Given the description of an element on the screen output the (x, y) to click on. 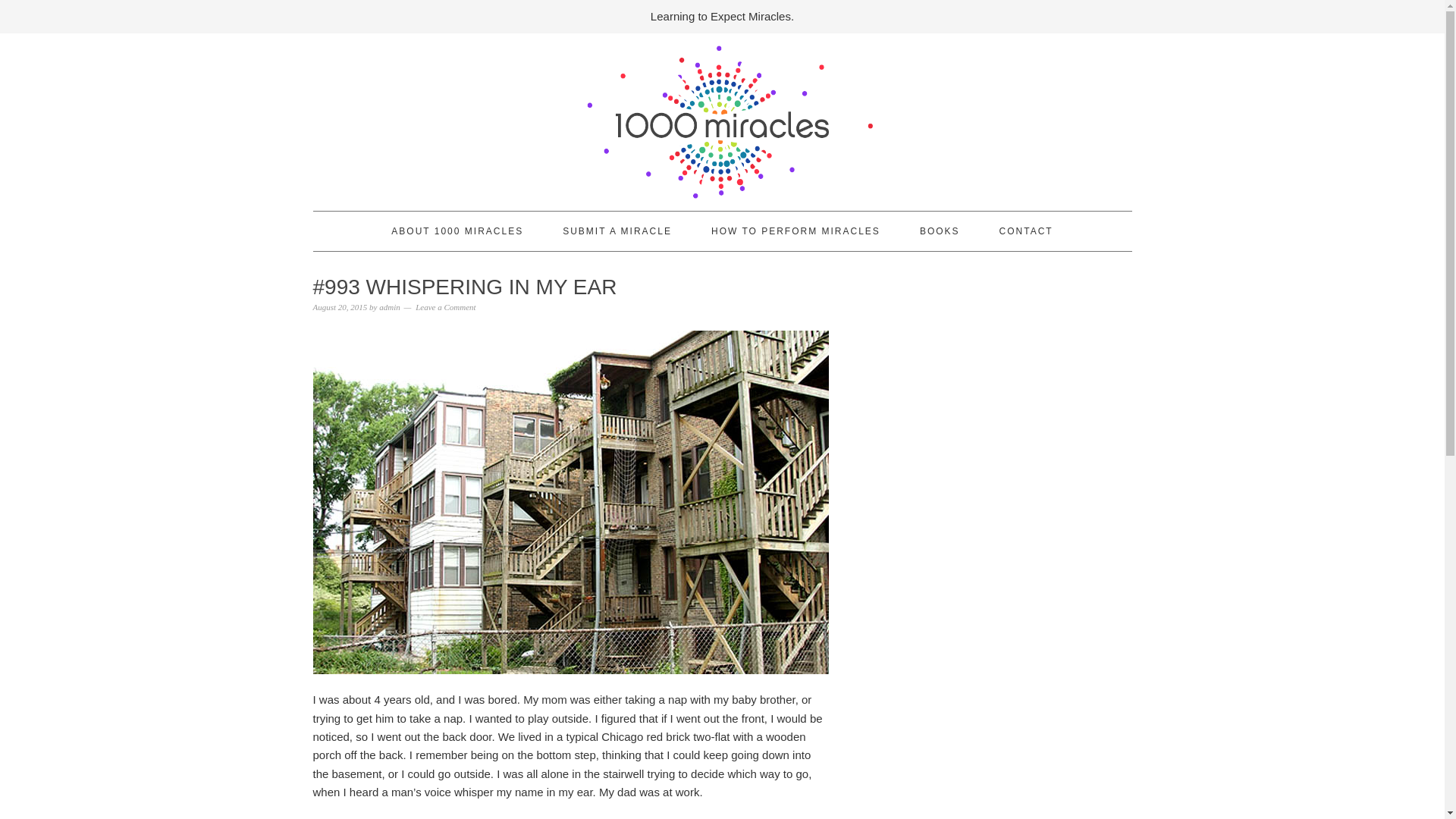
Leave a Comment (445, 307)
CONTACT (1025, 230)
HOW TO PERFORM MIRACLES (796, 230)
ABOUT 1000 MIRACLES (456, 230)
BOOKS (939, 230)
1000 MIRACLES (722, 110)
I would love to hear from you! (1025, 230)
admin (389, 307)
SUBMIT A MIRACLE (616, 230)
why not? (616, 230)
